Given the description of an element on the screen output the (x, y) to click on. 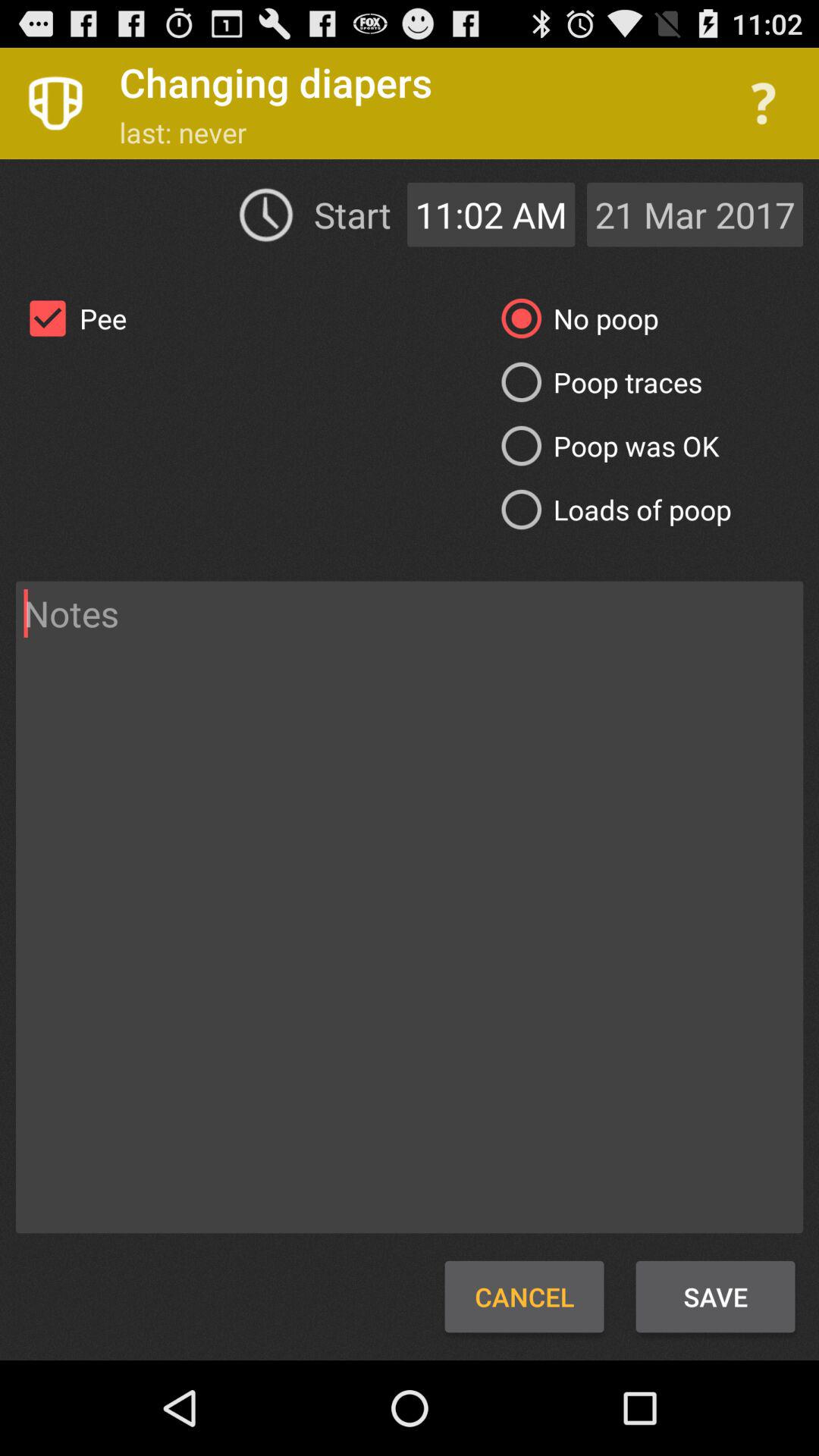
turn off icon next to the no poop icon (70, 318)
